Given the description of an element on the screen output the (x, y) to click on. 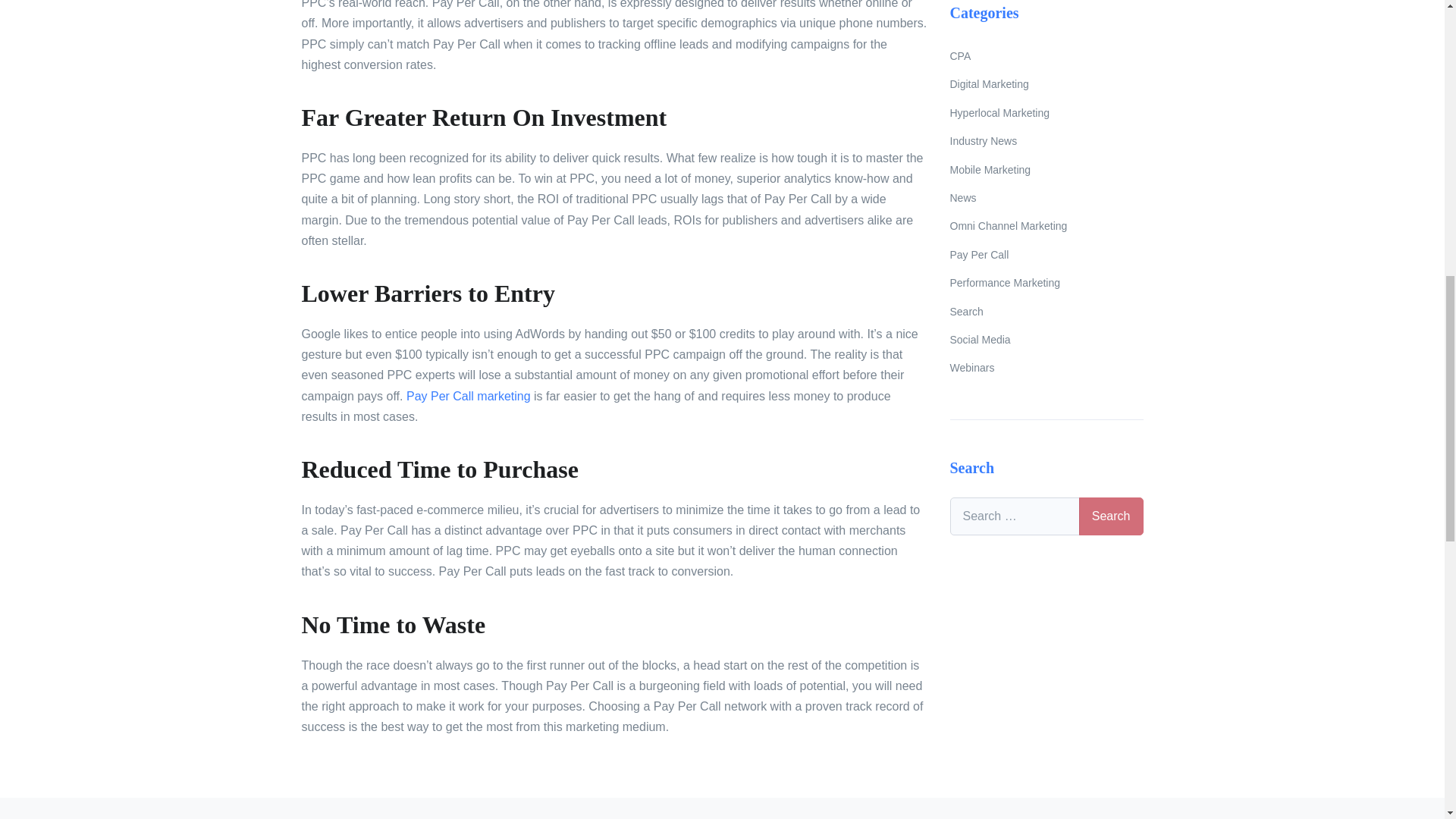
Pay Per Call (1045, 254)
Pay Per Call marketing (468, 395)
Digital Marketing (1045, 85)
Mobile Marketing (1045, 170)
Search (1045, 311)
CPA (1045, 56)
Industry News (1045, 141)
News (1045, 198)
Hyperlocal Marketing (1045, 113)
Performance Marketing (1045, 283)
